Given the description of an element on the screen output the (x, y) to click on. 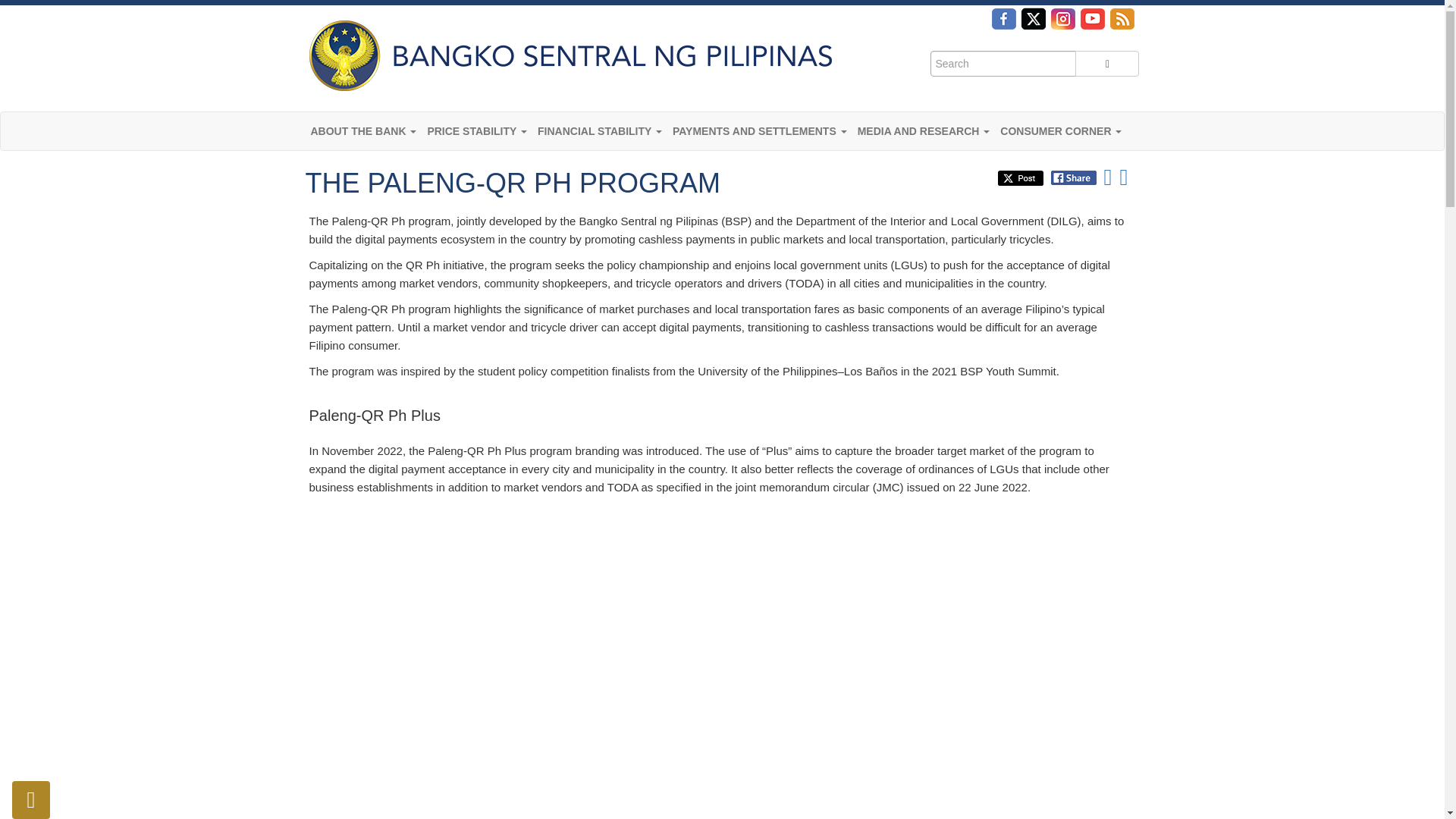
PRICE STABILITY (477, 130)
ABOUT THE BANK (363, 130)
Bangko Sentral ng Pilipinas (567, 55)
